Given the description of an element on the screen output the (x, y) to click on. 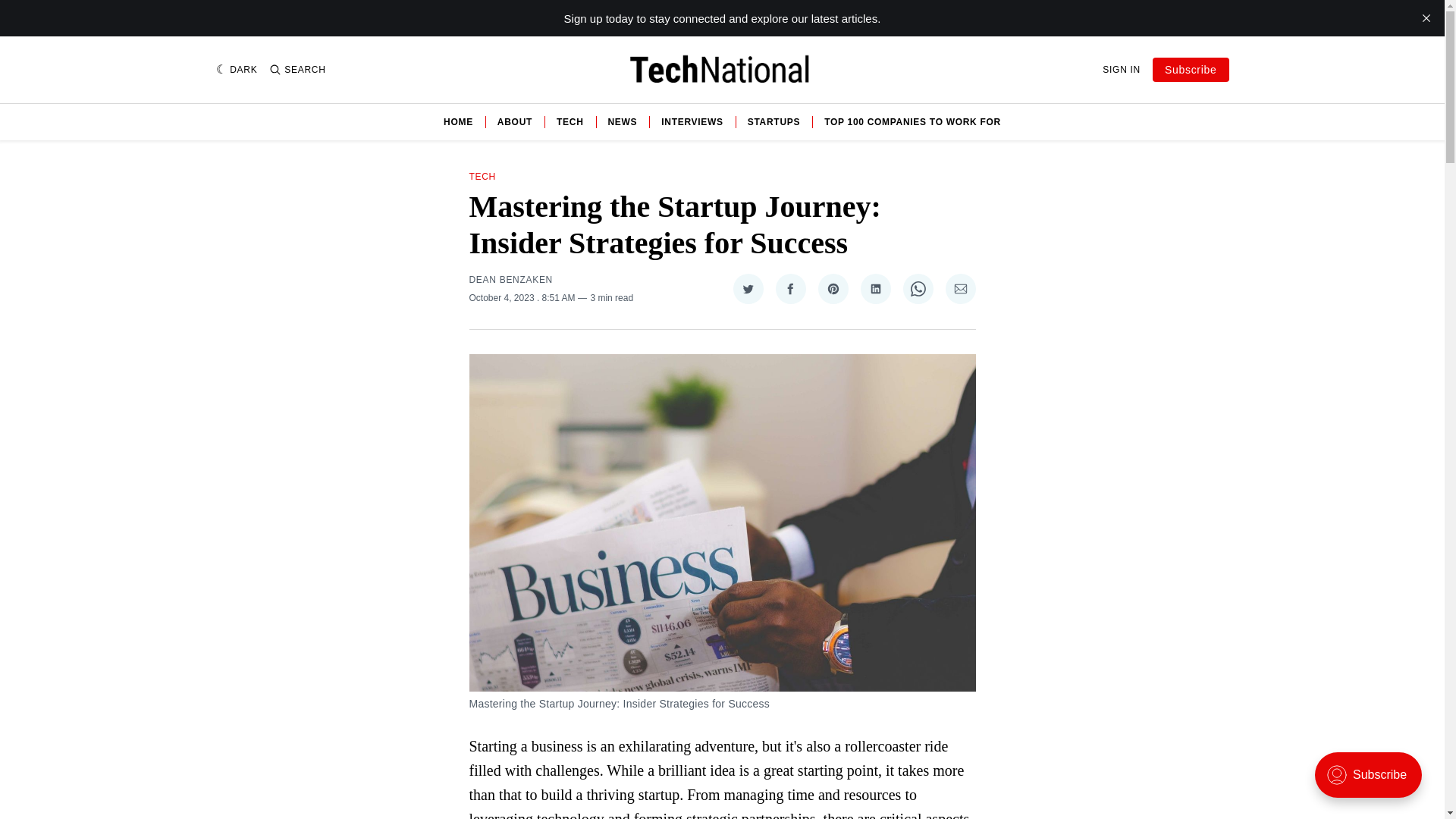
Share on Twitter (747, 288)
TOP 100 COMPANIES TO WORK FOR (912, 121)
TECH (569, 121)
DEAN BENZAKEN (509, 279)
NEWS (622, 121)
DARK (236, 69)
ABOUT (514, 121)
TECH (481, 176)
Share via Email (959, 288)
STARTUPS (773, 121)
HOME (458, 121)
Share on Pinterest (831, 288)
Share on WhatsApp (917, 288)
SEARCH (296, 69)
SIGN IN (1121, 69)
